Given the description of an element on the screen output the (x, y) to click on. 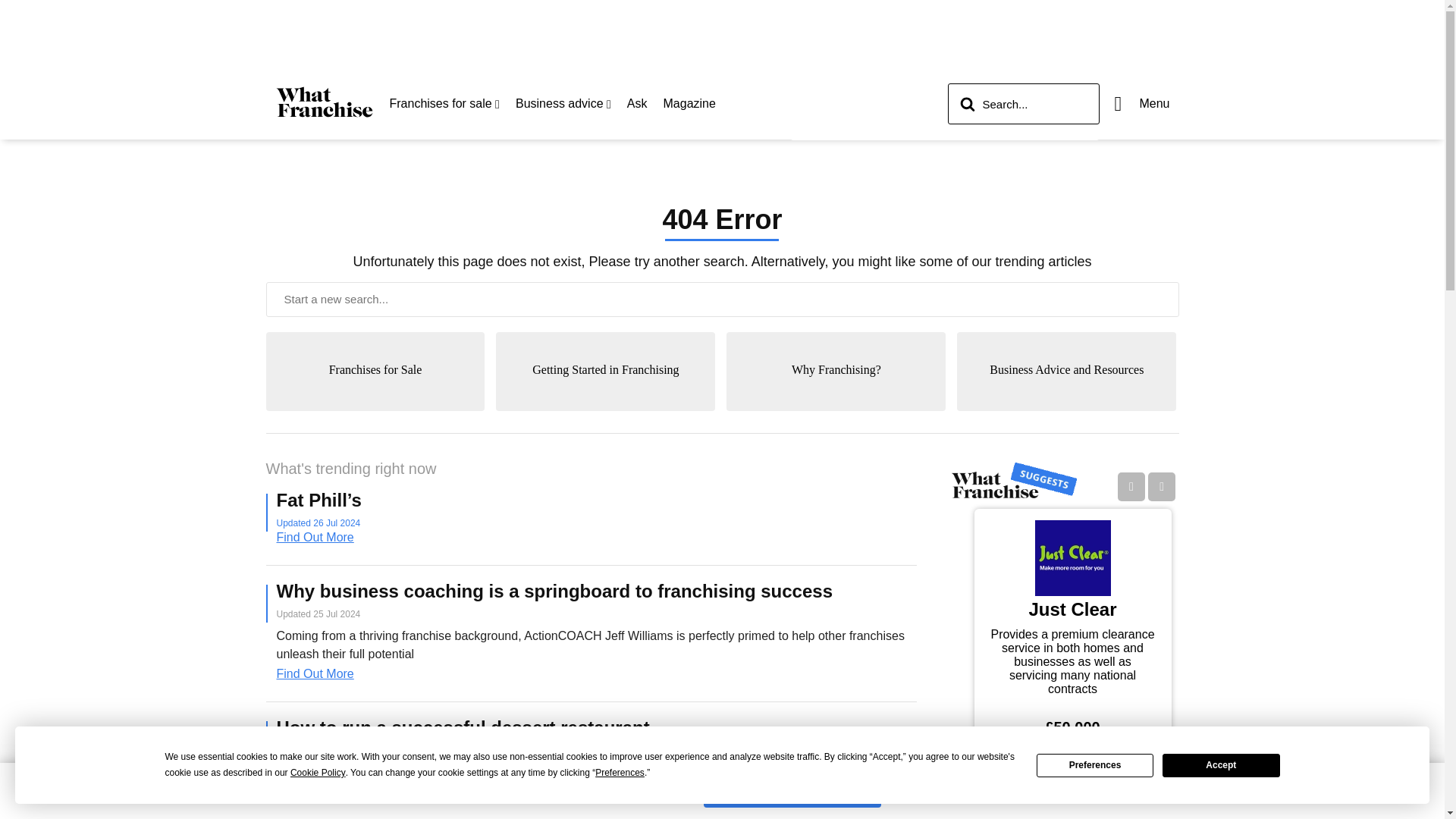
Business advice (563, 103)
3rd party ad content (721, 33)
Magazine (689, 103)
Accept (1220, 765)
Preferences (1094, 765)
Getting Started in Franchising (605, 403)
Franchises for Sale (375, 403)
Ask (637, 103)
Cookie Policy (317, 772)
What Franchise Suggests (1012, 480)
Preferences (620, 772)
Franchises for sale (444, 103)
Why Franchising? (836, 403)
